Given the description of an element on the screen output the (x, y) to click on. 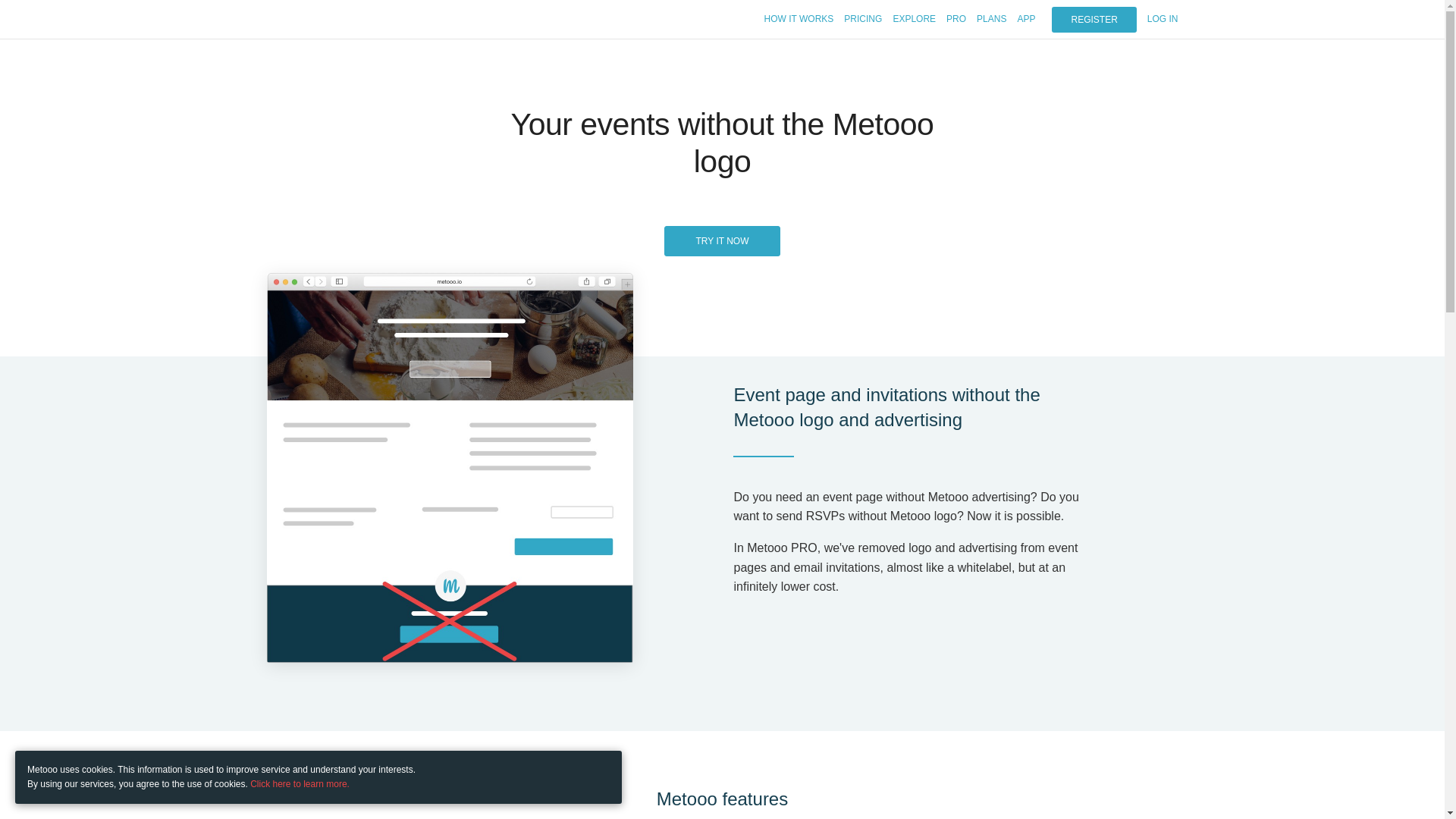
LOG IN (1162, 18)
APP (1025, 18)
TRY IT NOW (720, 241)
PRICING (863, 18)
REGISTER (1093, 19)
PRO (956, 18)
PLANS (991, 18)
HOW IT WORKS (799, 18)
EXPLORE (914, 18)
